Given the description of an element on the screen output the (x, y) to click on. 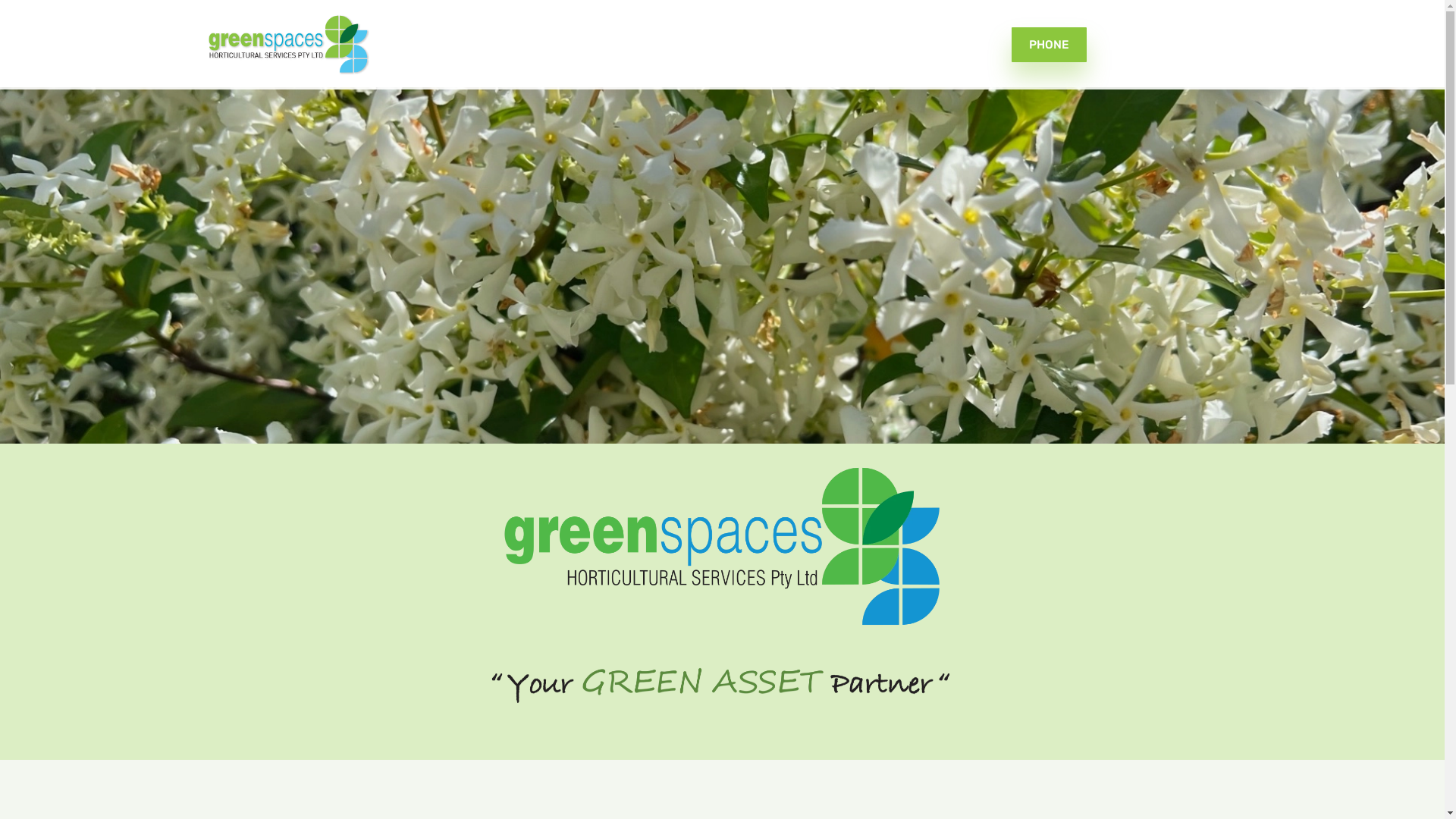
logo1 Element type: hover (288, 44)
PHONE Element type: text (1048, 44)
gs-logo Element type: hover (721, 545)
